Given the description of an element on the screen output the (x, y) to click on. 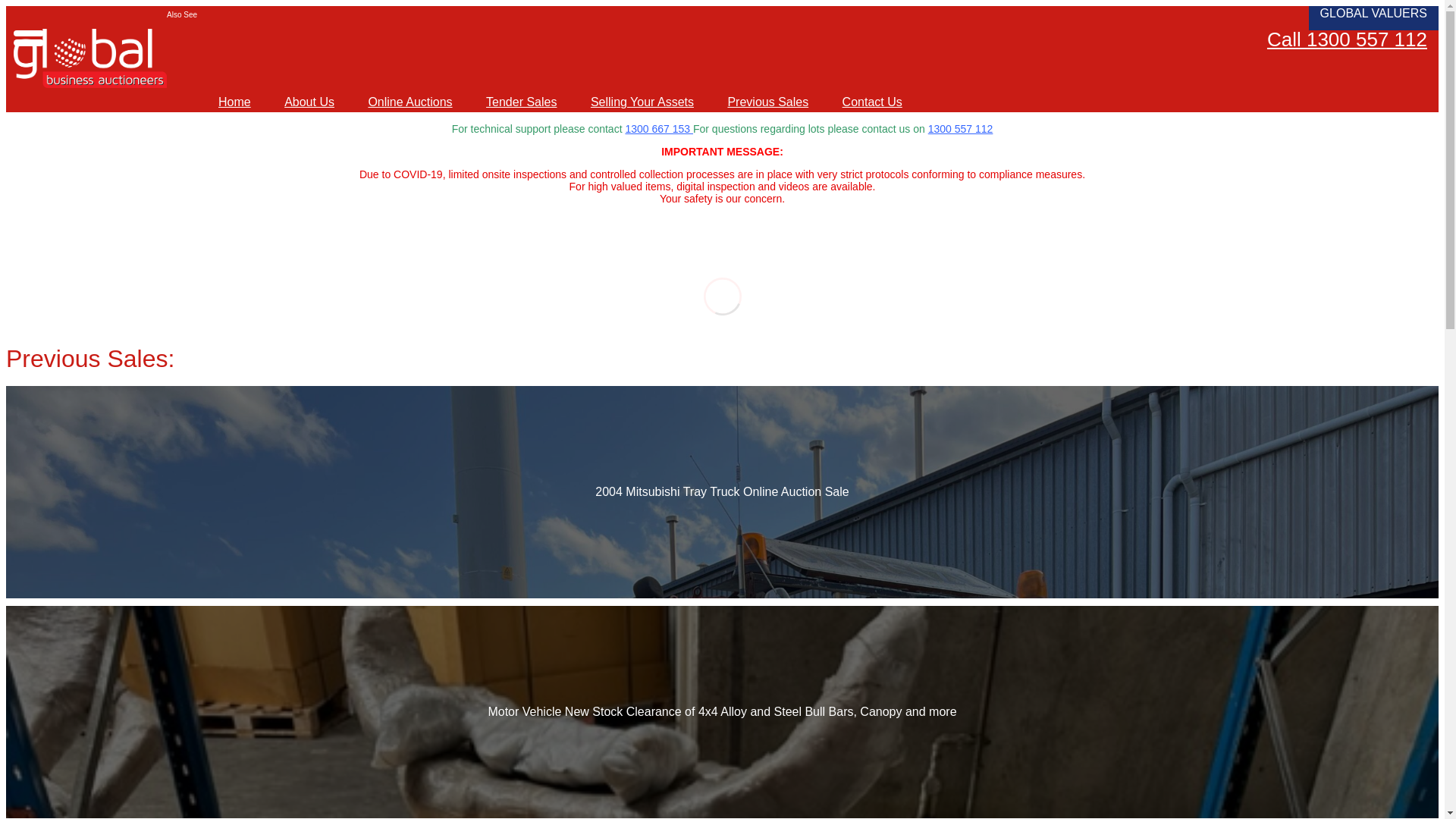
Selling Your Assets Element type: text (642, 101)
Previous Sales Element type: text (767, 101)
Call 1300 557 112 Element type: text (1347, 39)
Contact Us Element type: text (872, 101)
About Us Element type: text (309, 101)
Home Element type: text (234, 101)
2004 Mitsubishi Tray Truck Online Auction Sale Element type: text (722, 491)
1300 667 153 Element type: text (658, 128)
Tender Sales Element type: text (520, 101)
1300 557 112 Element type: text (960, 128)
Online Auctions Element type: text (409, 101)
